Given the description of an element on the screen output the (x, y) to click on. 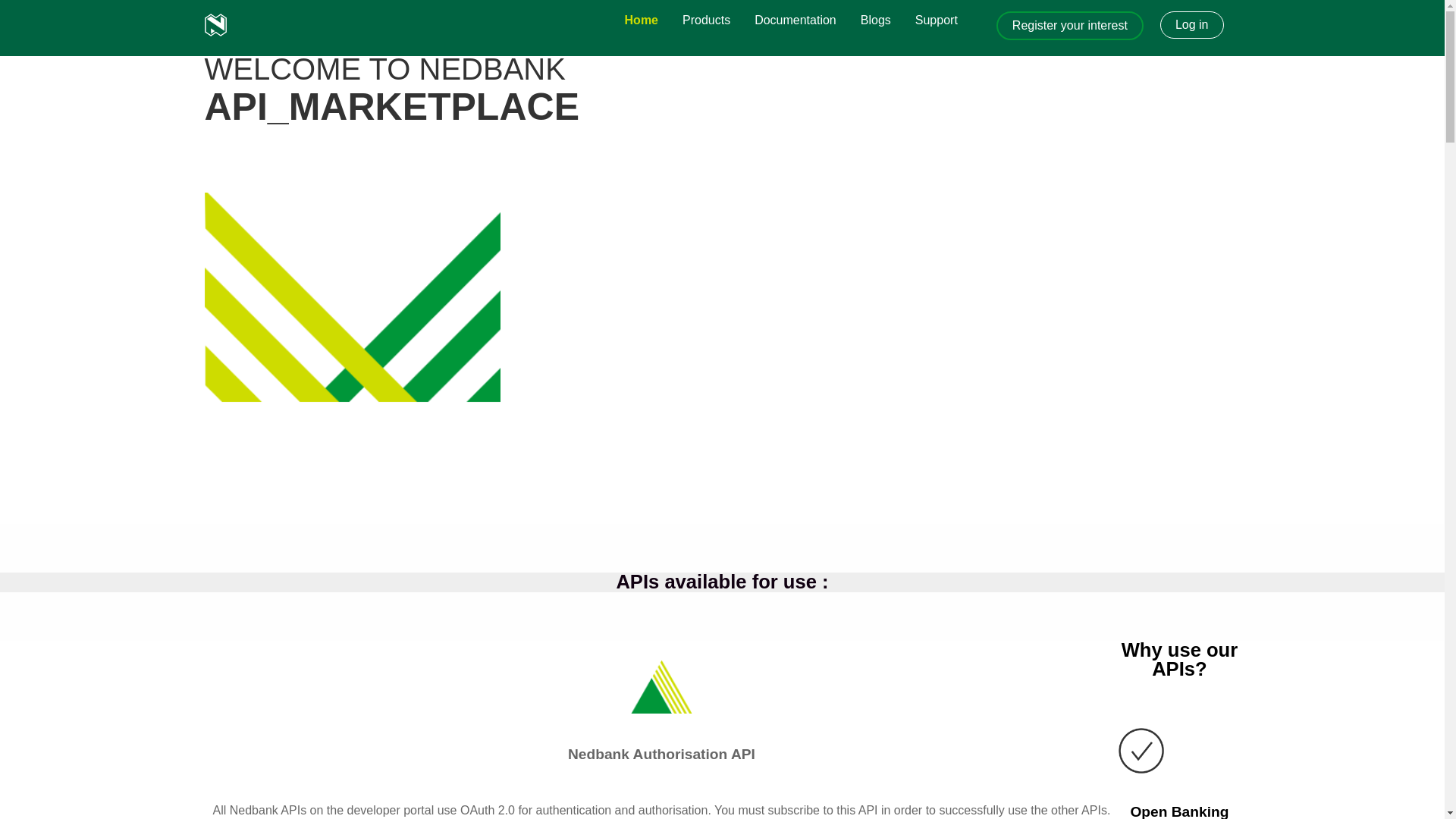
Support (935, 19)
Documentation (795, 19)
API Products (705, 19)
Home (640, 19)
Register your interest (1070, 25)
Need some help? (935, 19)
Blogs (875, 19)
Products (705, 19)
Log in (1192, 25)
